Given the description of an element on the screen output the (x, y) to click on. 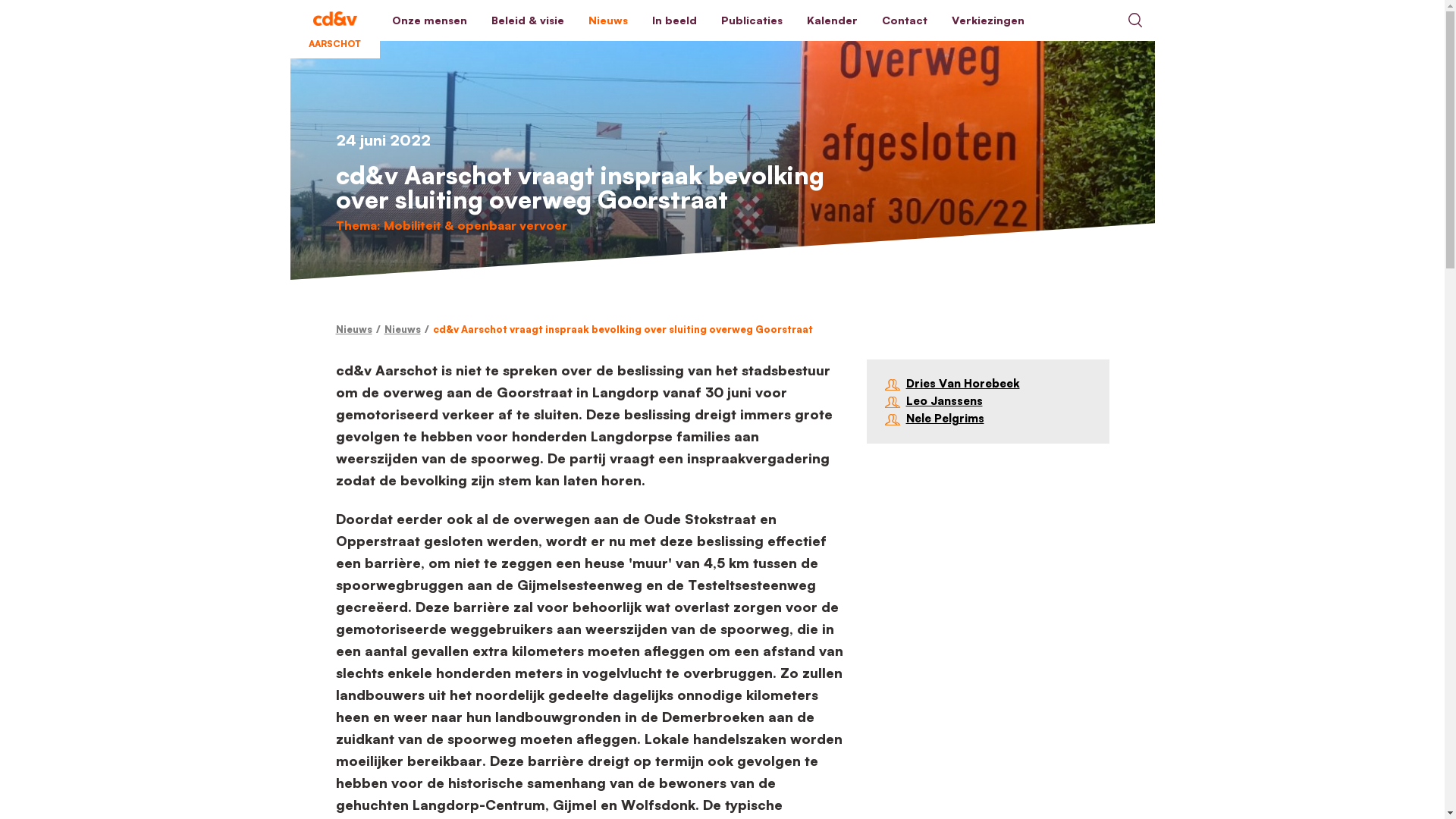
Contact Element type: text (903, 20)
Dries Van Horebeek Element type: text (987, 383)
Onze mensen Element type: text (428, 20)
Nele Pelgrims Element type: text (987, 418)
In beeld Element type: text (674, 20)
Verkiezingen Element type: text (986, 20)
AARSCHOT Element type: text (334, 19)
Kalender Element type: text (831, 20)
Nieuws Element type: text (401, 329)
Publicaties Element type: text (750, 20)
Beleid & visie Element type: text (527, 20)
Leo Janssens Element type: text (987, 401)
Nieuws Element type: text (353, 329)
Nieuws Element type: text (608, 20)
Search Element type: hover (1134, 19)
